Given the description of an element on the screen output the (x, y) to click on. 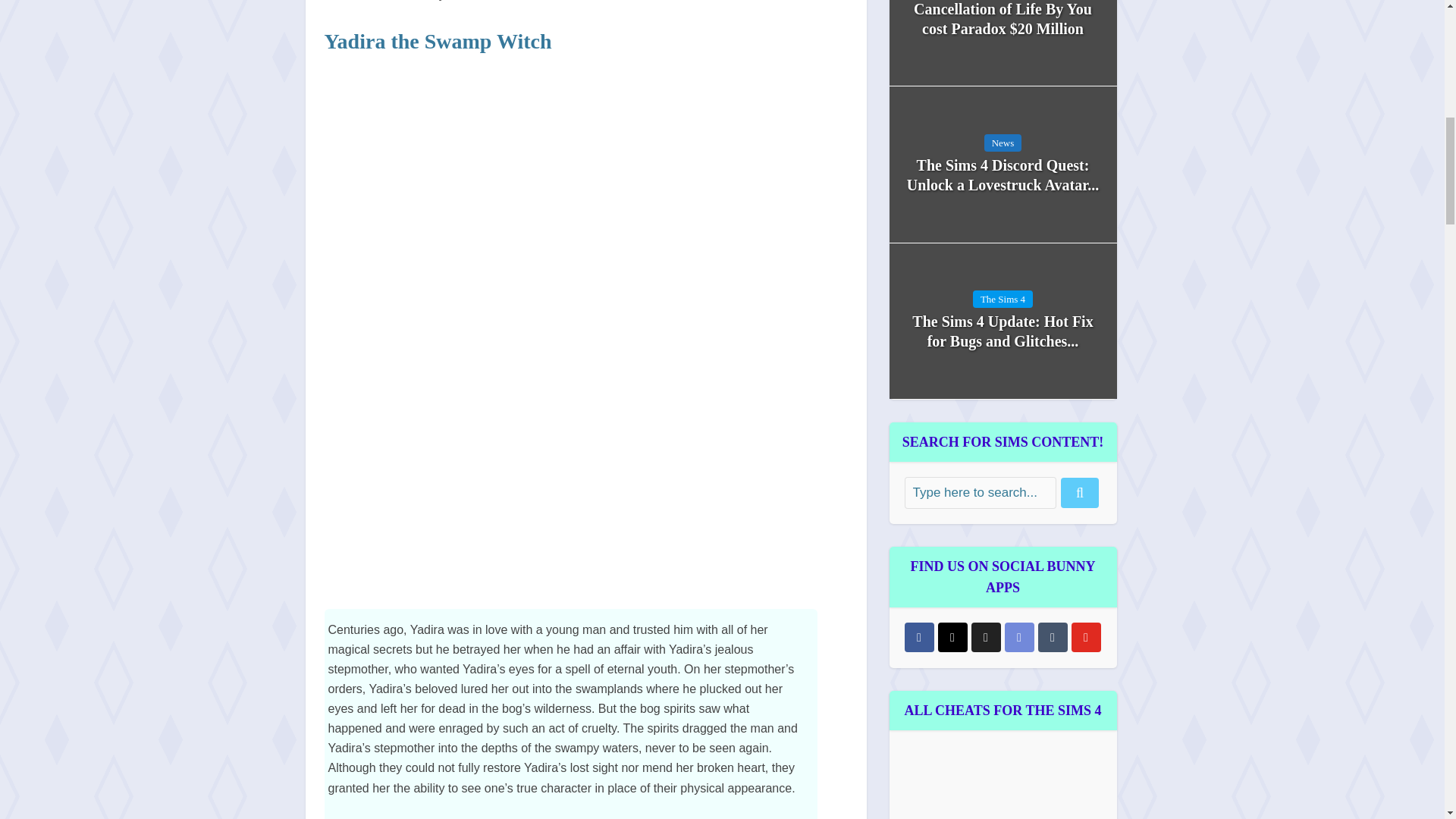
Type here to search... (979, 492)
Type here to search... (979, 492)
